Given the description of an element on the screen output the (x, y) to click on. 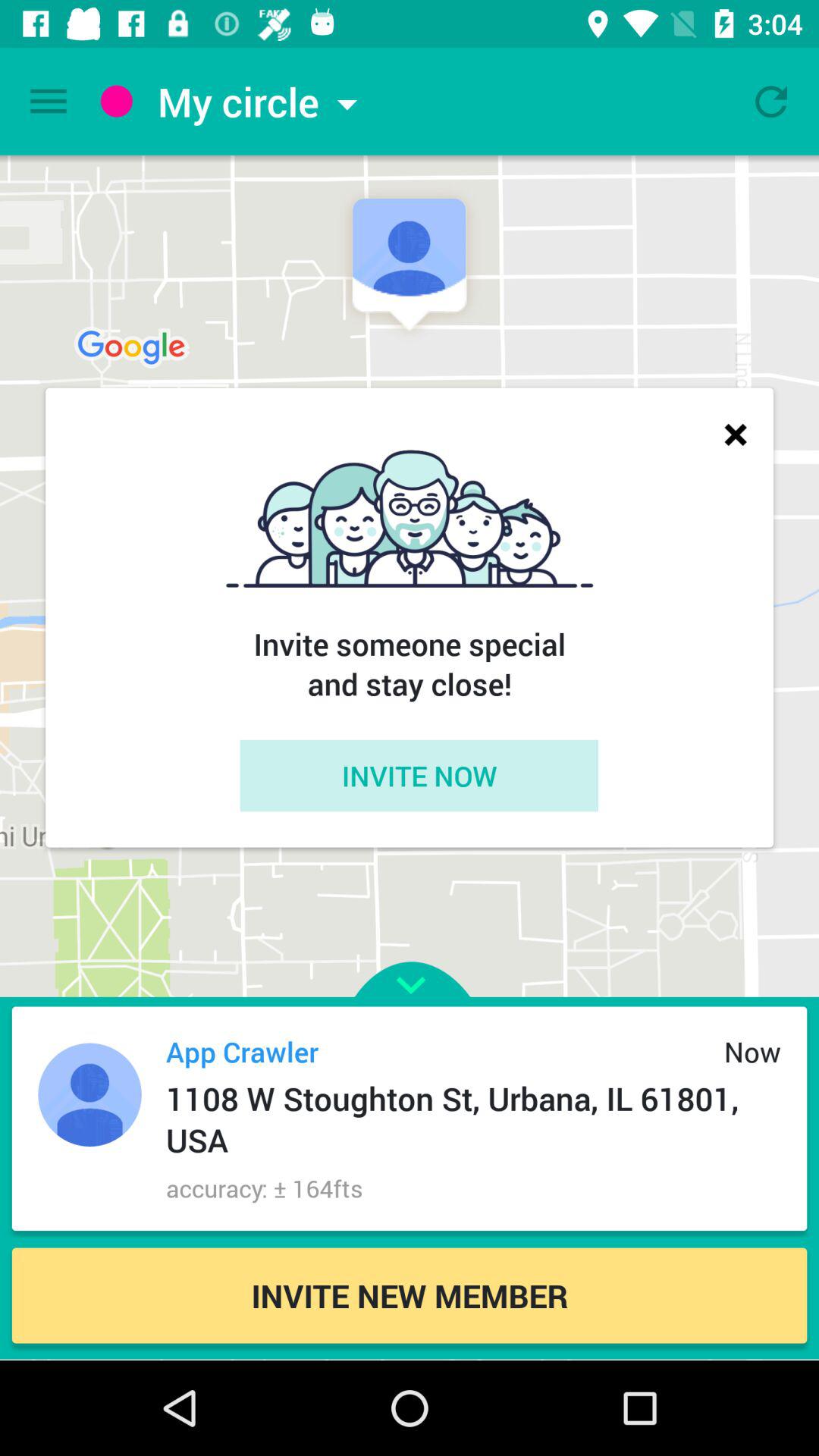
swipe until invite new member item (409, 1295)
